Given the description of an element on the screen output the (x, y) to click on. 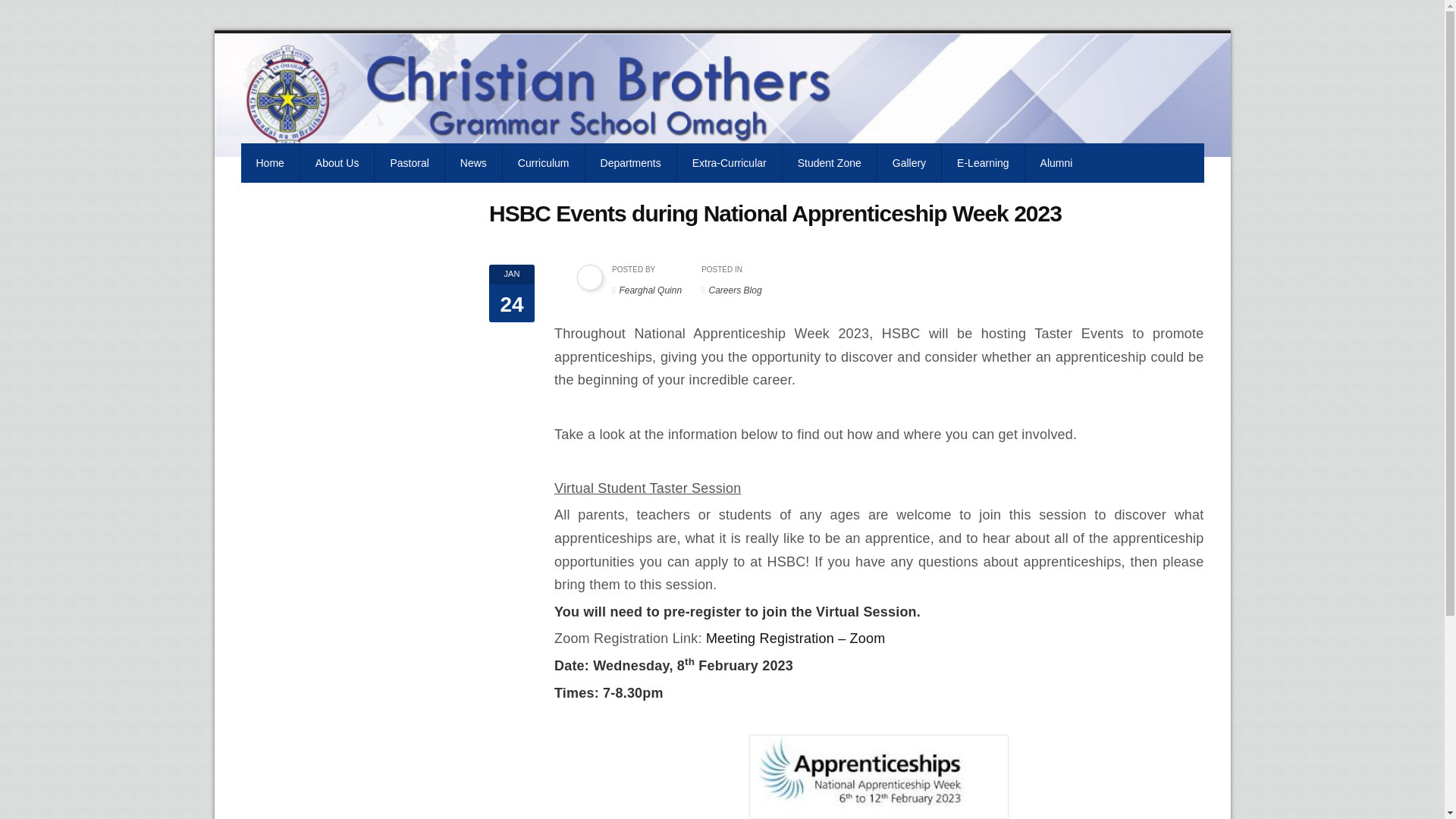
About Us (337, 162)
Departments (631, 162)
Curriculum (543, 162)
News (473, 162)
Home (270, 162)
Pastoral (409, 162)
